Given the description of an element on the screen output the (x, y) to click on. 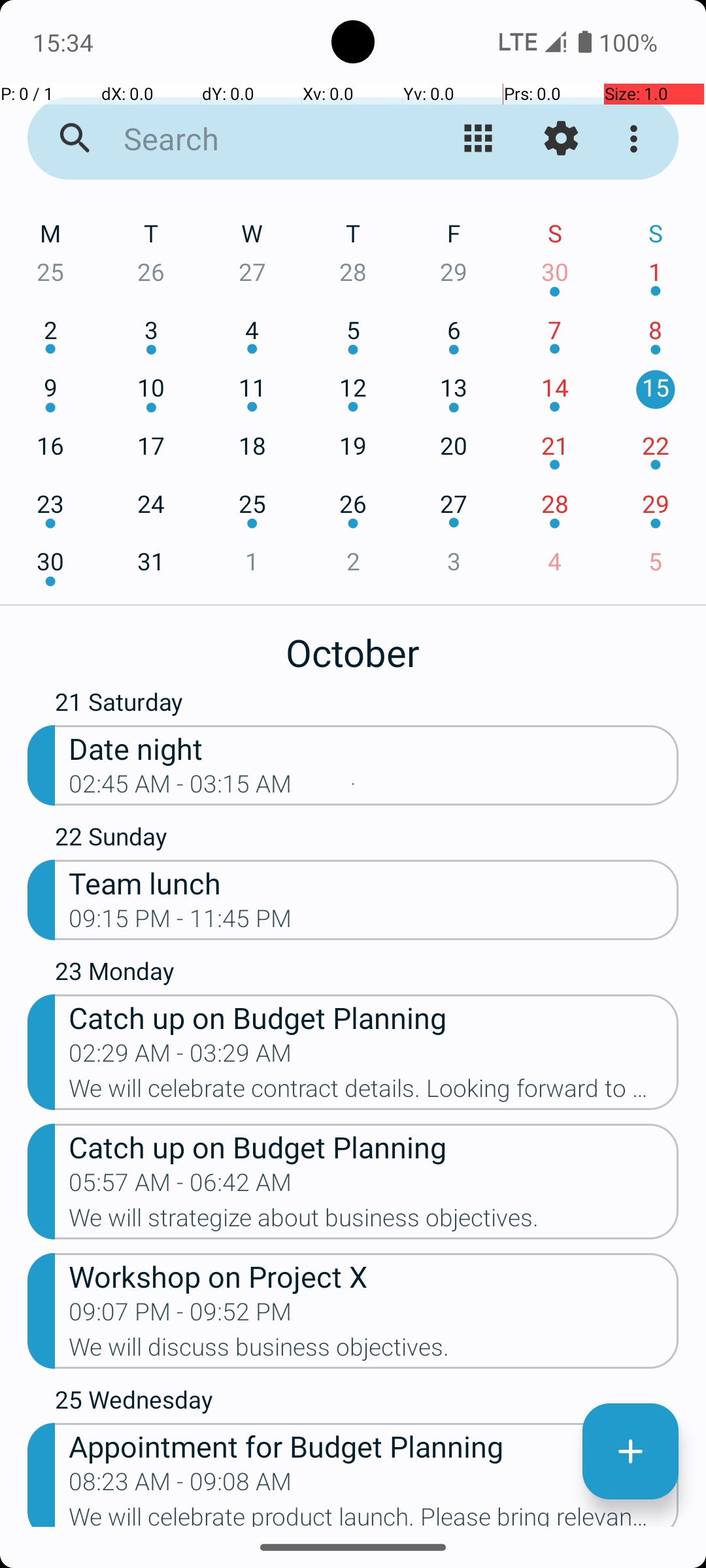
21 Saturday Element type: android.widget.TextView (366, 704)
25 Wednesday Element type: android.widget.TextView (366, 1402)
Date night Element type: android.widget.TextView (373, 747)
02:45 AM - 03:15 AM Element type: android.widget.TextView (179, 787)
Team lunch Element type: android.widget.TextView (373, 881)
09:15 PM - 11:45 PM Element type: android.widget.TextView (179, 922)
02:29 AM - 03:29 AM Element type: android.widget.TextView (179, 1056)
We will celebrate contract details. Looking forward to productive discussions. Element type: android.widget.TextView (373, 1092)
05:57 AM - 06:42 AM Element type: android.widget.TextView (179, 1186)
We will strategize about business objectives. Element type: android.widget.TextView (373, 1221)
09:07 PM - 09:52 PM Element type: android.widget.TextView (179, 1315)
We will discuss business objectives. Element type: android.widget.TextView (373, 1350)
08:23 AM - 09:08 AM Element type: android.widget.TextView (179, 1485)
We will celebrate product launch. Please bring relevant documents. Element type: android.widget.TextView (373, 1514)
